Given the description of an element on the screen output the (x, y) to click on. 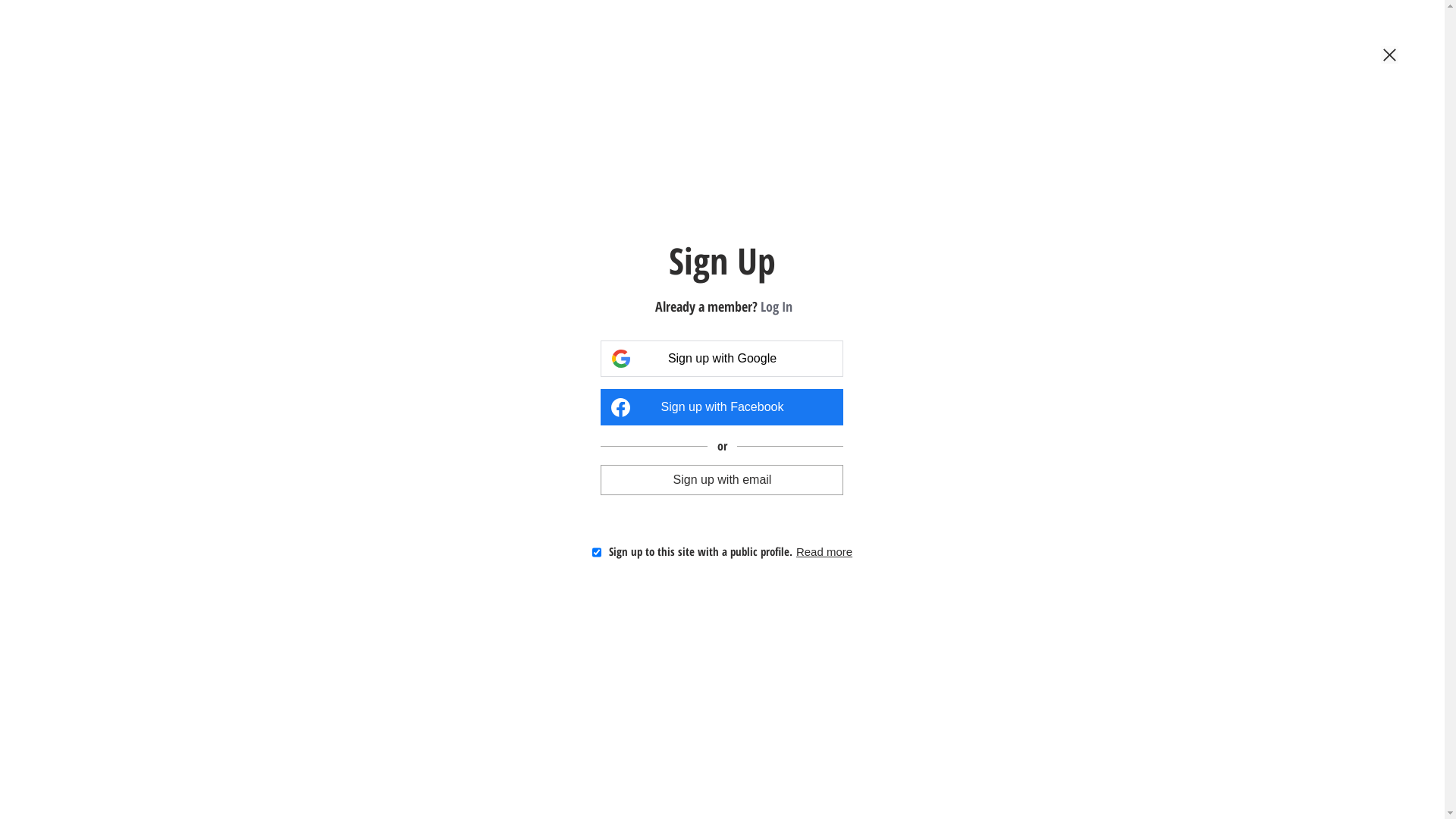
Read more Element type: text (824, 551)
Log In Element type: text (776, 306)
Sign up with Facebook Element type: text (721, 407)
Sign up with Google Element type: text (721, 358)
Sign up with email Element type: text (721, 479)
